Given the description of an element on the screen output the (x, y) to click on. 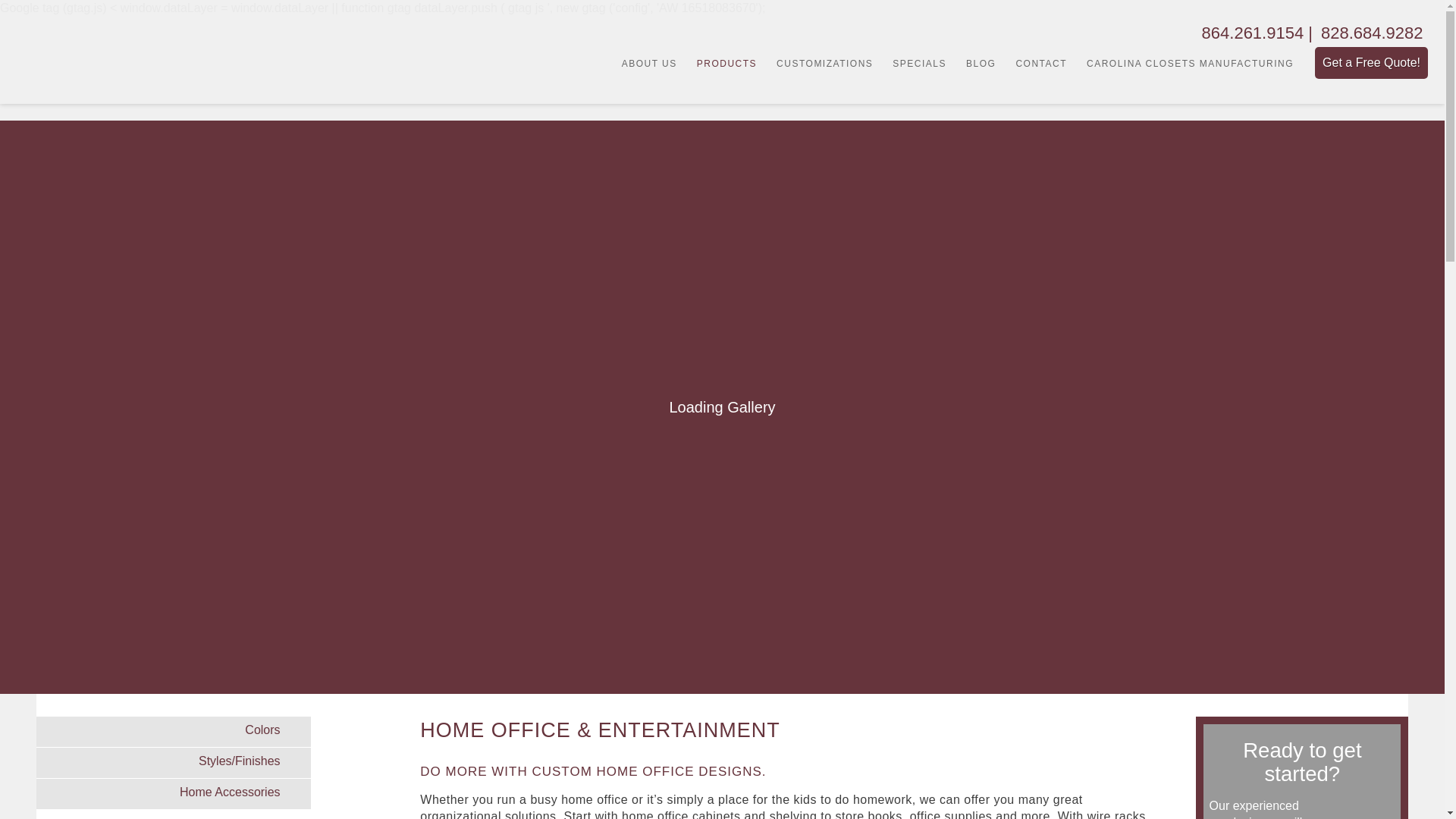
Get a Free Quote! (1371, 62)
Home Accessories (173, 793)
SPECIALS (919, 63)
CAROLINA CLOSETS MANUFACTURING (1190, 63)
Colors (173, 731)
CONTACT (1041, 63)
ABOUT US (648, 63)
Get Started (721, 626)
BLOG (980, 63)
PRODUCTS (726, 63)
CUSTOMIZATIONS (824, 63)
